Given the description of an element on the screen output the (x, y) to click on. 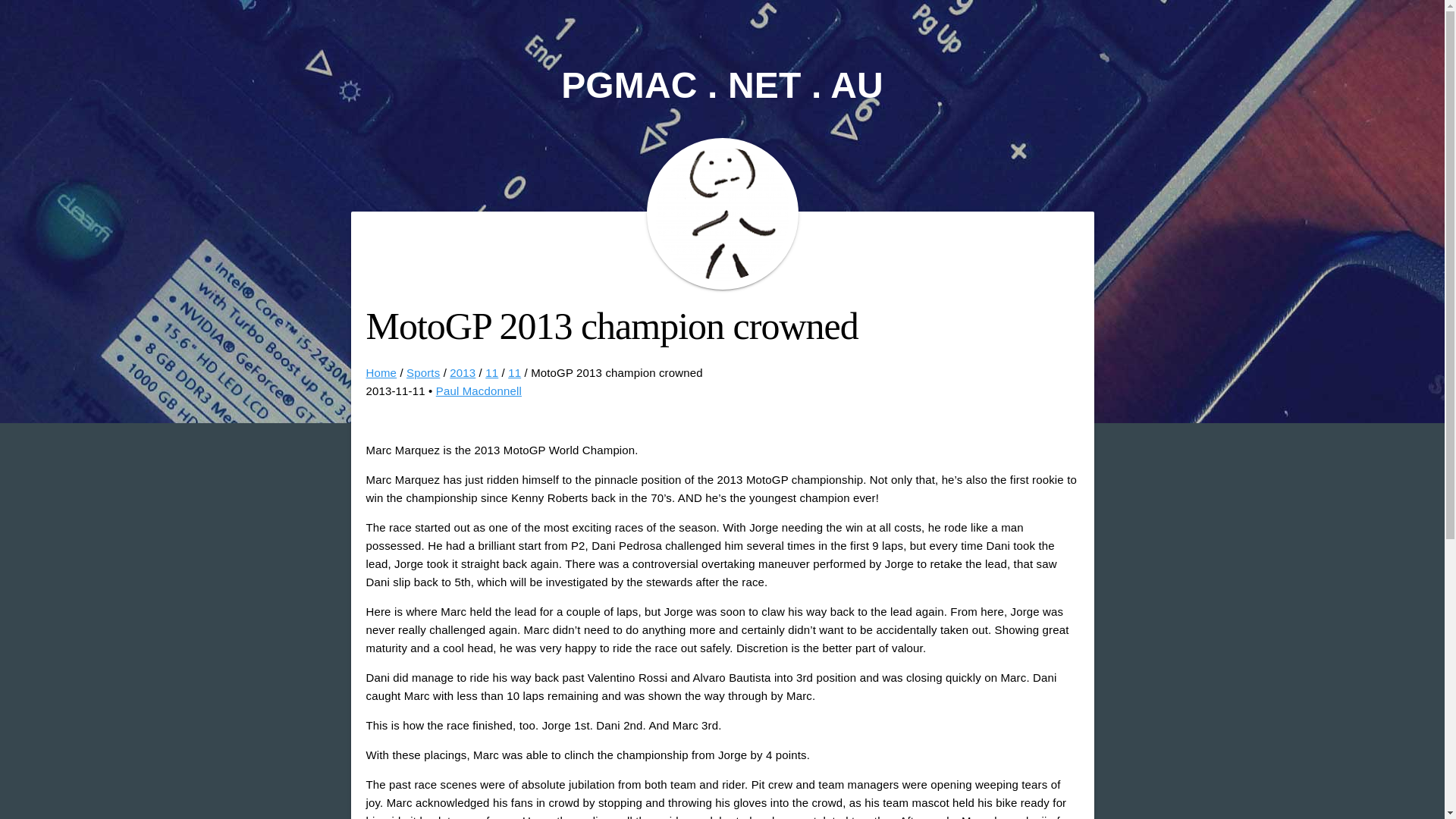
Sports (422, 372)
2013 (462, 372)
Paul Macdonnell (478, 390)
Home (380, 372)
PGMAC . NET . AU (721, 85)
11 (514, 372)
11 (490, 372)
